Given the description of an element on the screen output the (x, y) to click on. 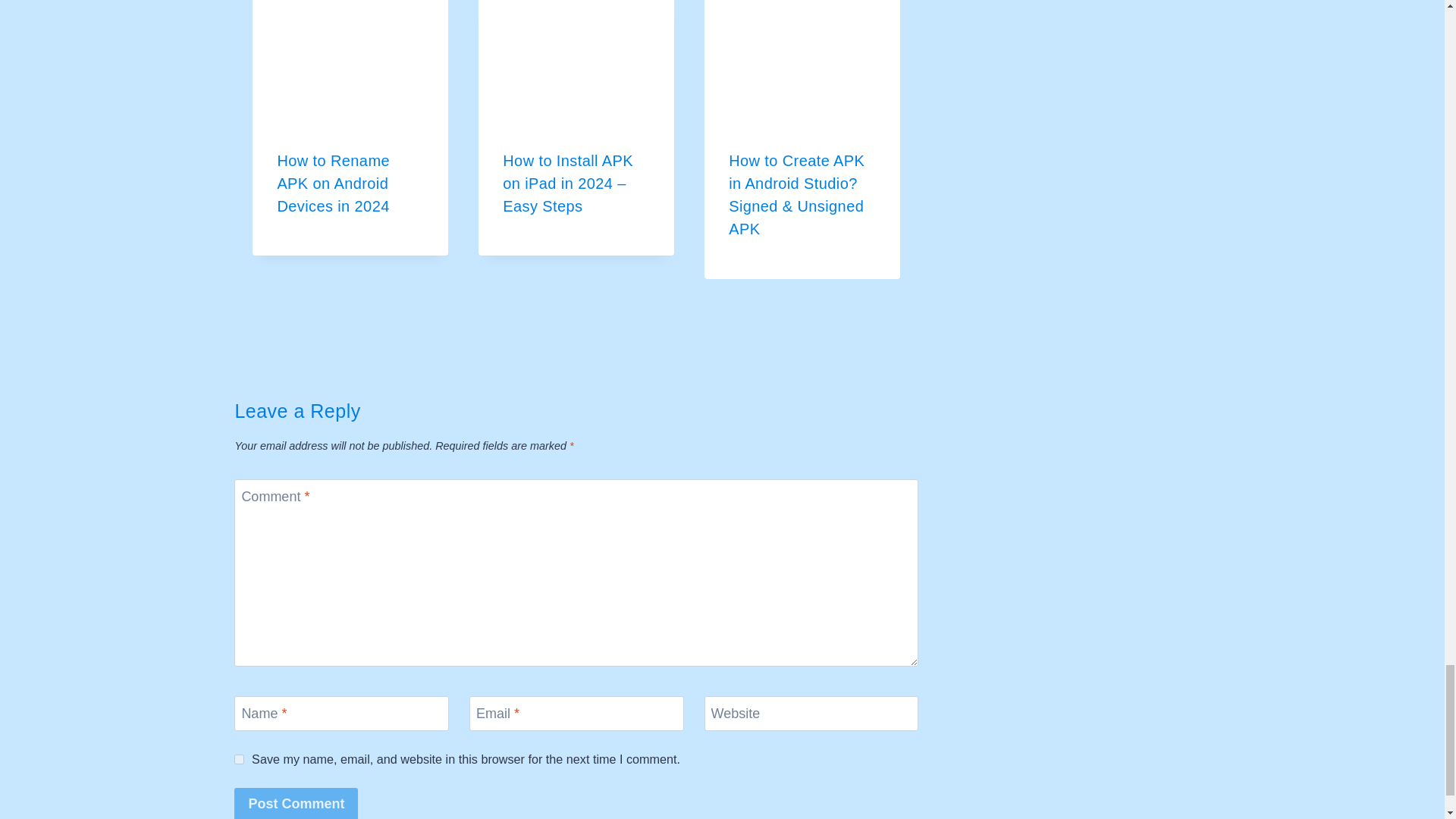
How to Rename APK on Android Devices in 2024 (333, 183)
Post Comment (296, 803)
yes (239, 759)
